Given the description of an element on the screen output the (x, y) to click on. 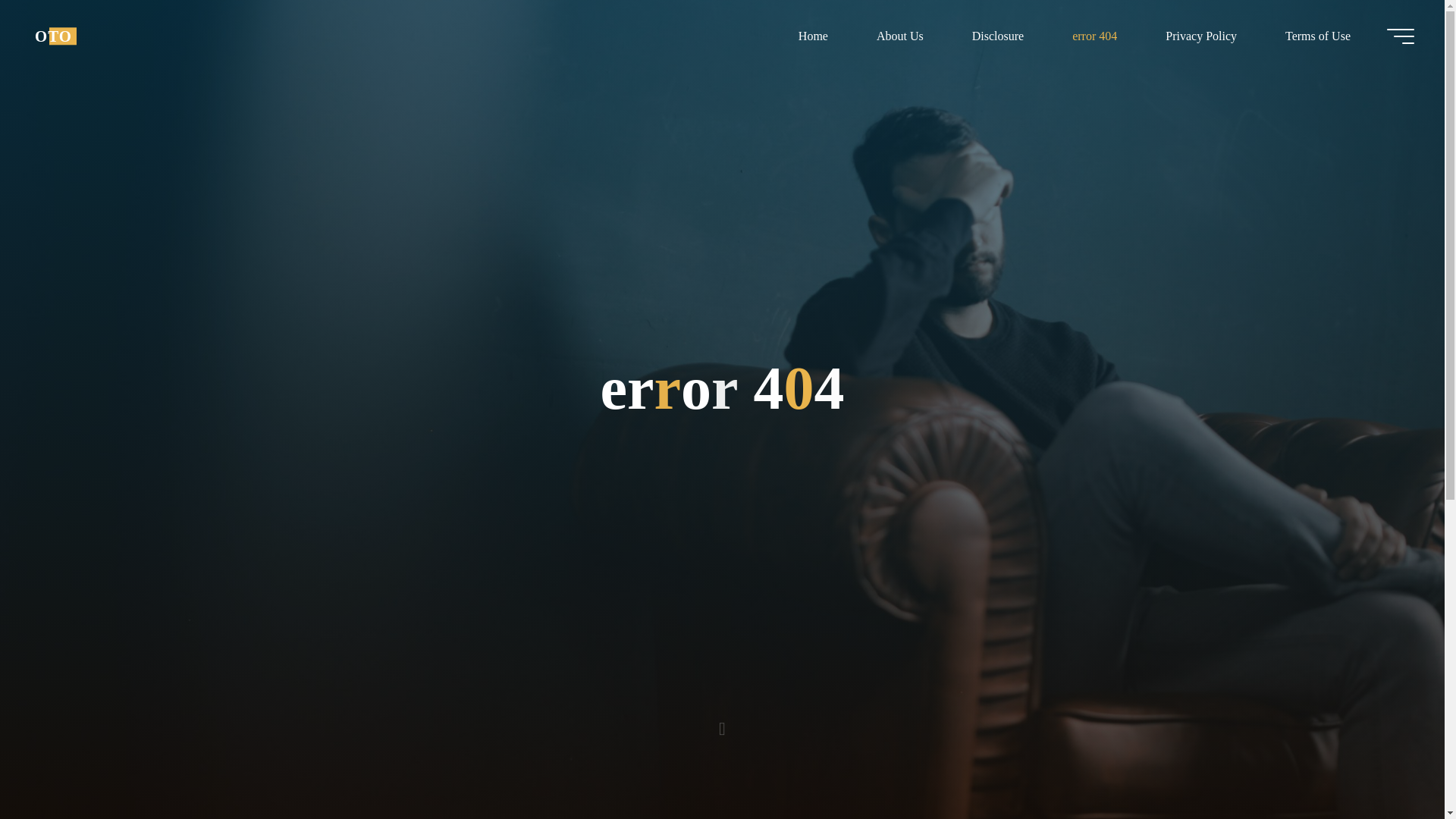
About Us (899, 35)
Home (812, 35)
error 404 (1094, 35)
Privacy Policy (1200, 35)
OTO (53, 36)
Read more (721, 724)
Terms of Use (1317, 35)
Disclosure (997, 35)
